Given the description of an element on the screen output the (x, y) to click on. 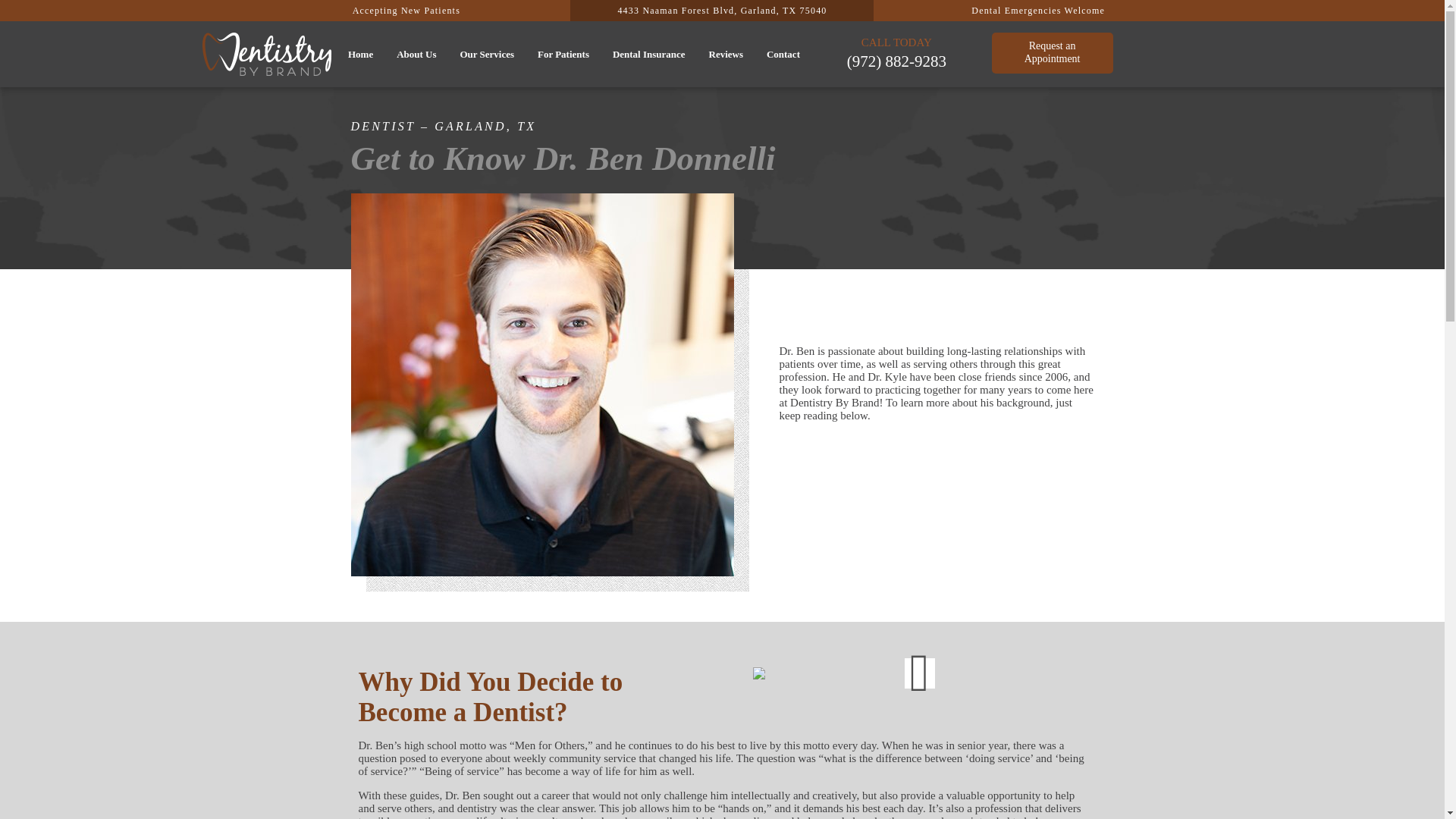
4433 Naaman Forest Blvd, Garland, TX 75040 (1052, 52)
About Us (721, 10)
Our Services (416, 54)
Dental Services (486, 54)
Dental Emergencies Welcome (486, 54)
Accepting New Patients (1037, 10)
About Us (405, 10)
Home (416, 54)
Dentist Garland, TX (360, 54)
